Given the description of an element on the screen output the (x, y) to click on. 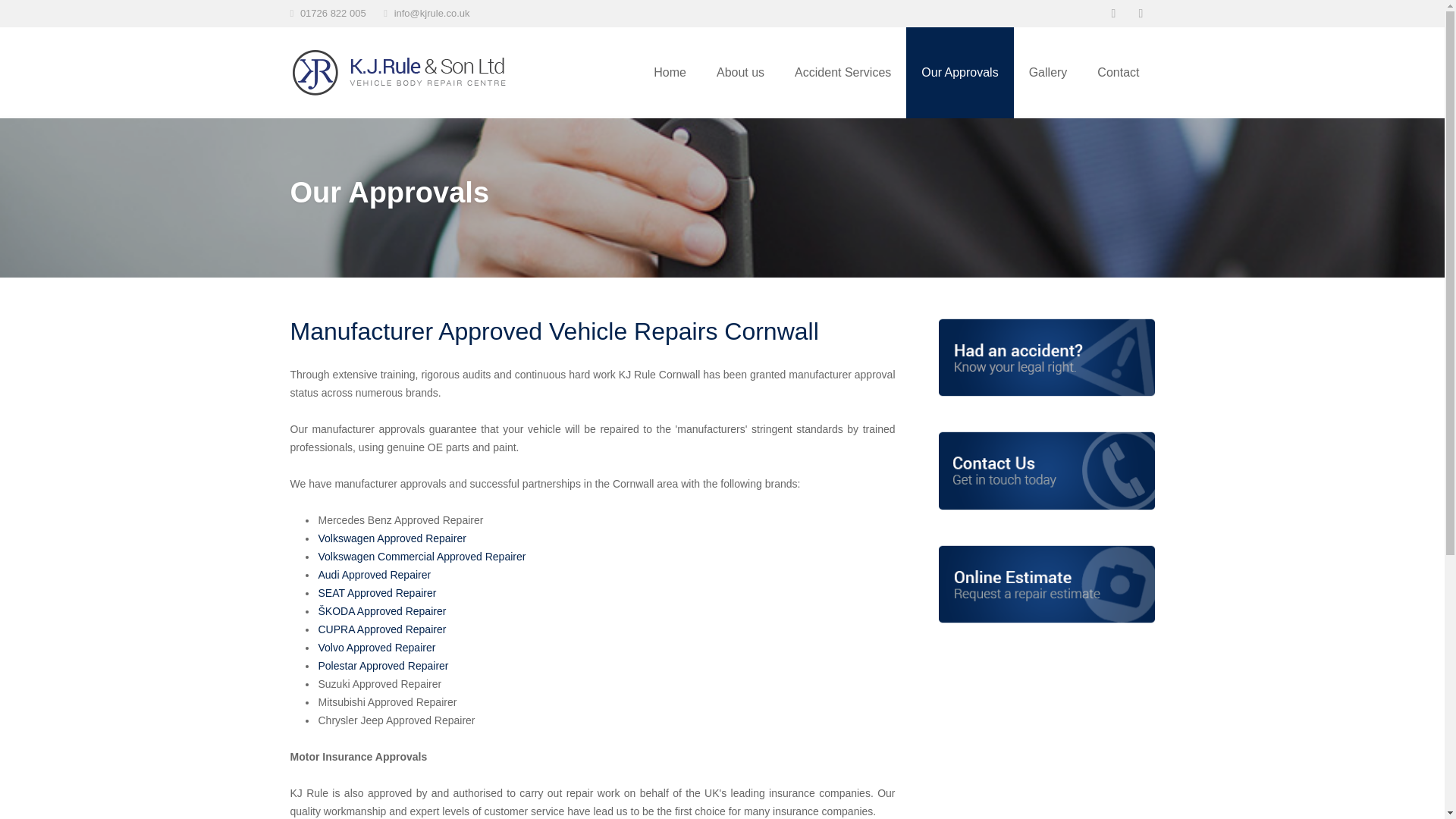
Our Approvals (959, 72)
Volkswagen Commercial Approved Repairer (421, 556)
Polestar Approved Repairer (383, 665)
CUPRA Approved Repairer (382, 629)
Volkswagen Approved Repairer (391, 538)
Volvo Approved Repairer (376, 647)
Accident Services (841, 72)
Audi Approved Repairer (374, 574)
SEAT Approved Repairer (377, 592)
